Given the description of an element on the screen output the (x, y) to click on. 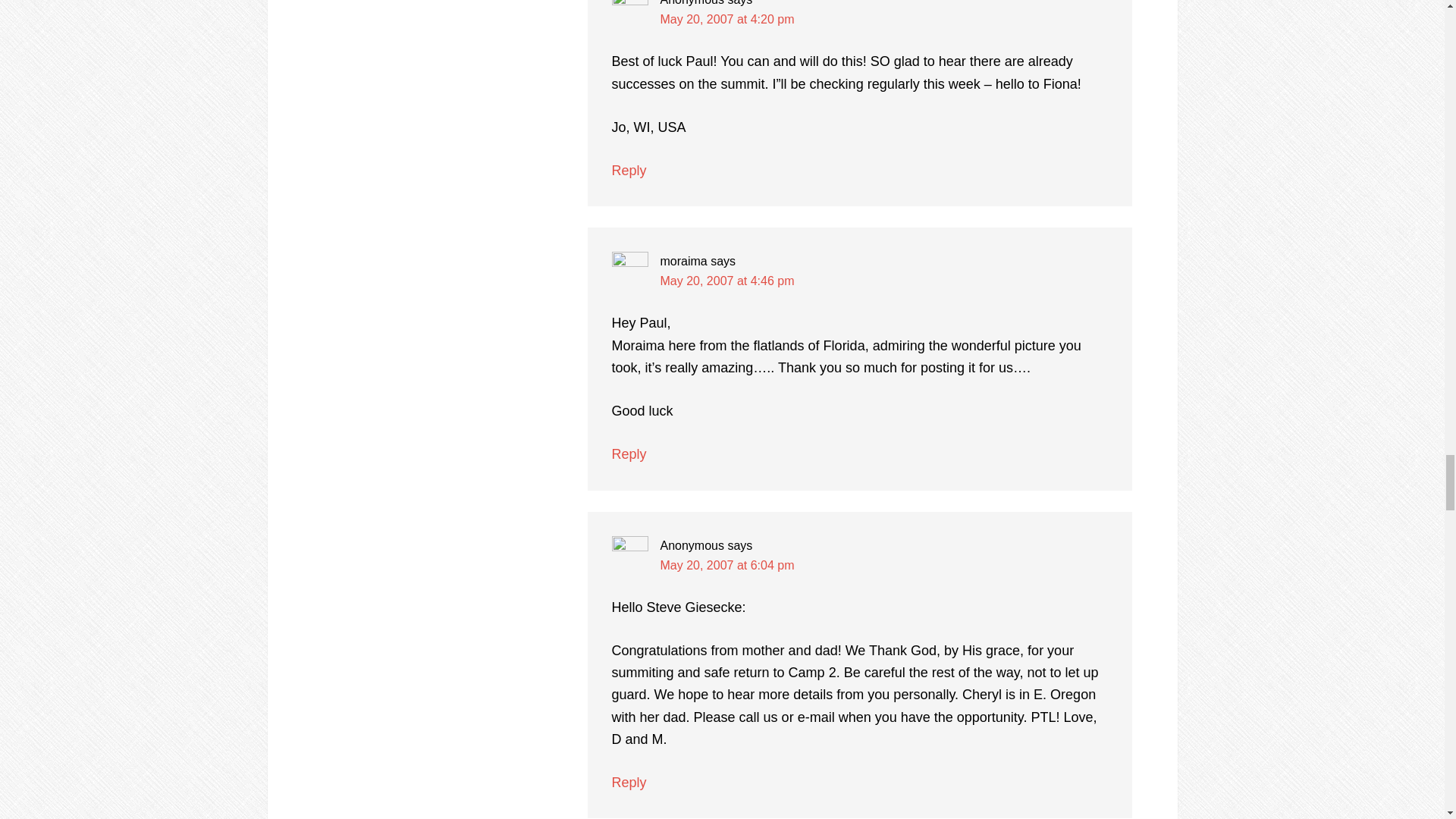
Reply (628, 170)
May 20, 2007 at 4:20 pm (726, 19)
